Given the description of an element on the screen output the (x, y) to click on. 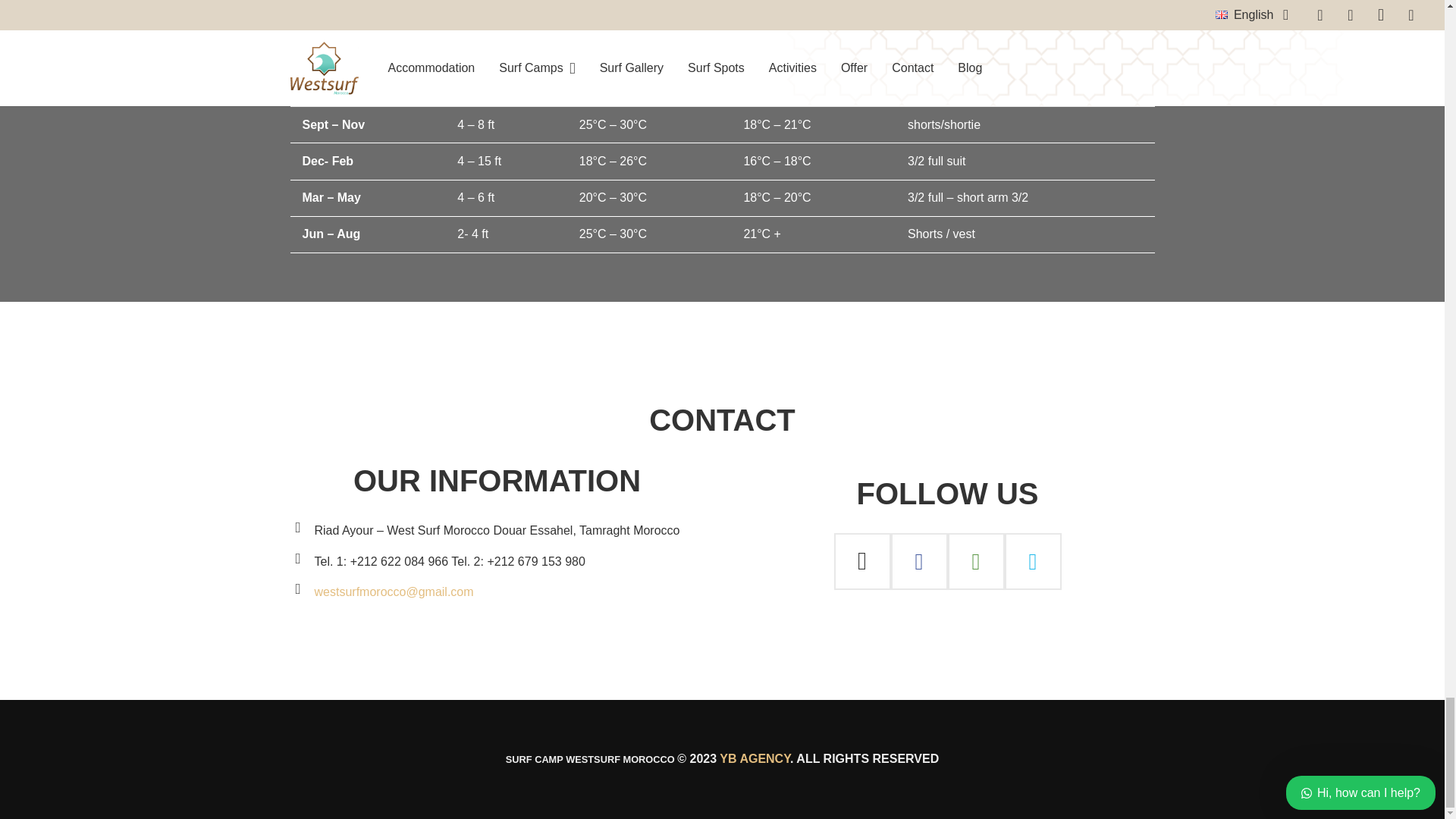
Instagram (862, 561)
Facebook (918, 561)
Vimeo (1032, 561)
Tripadvisor (975, 561)
YB AGENCY (754, 758)
